Given the description of an element on the screen output the (x, y) to click on. 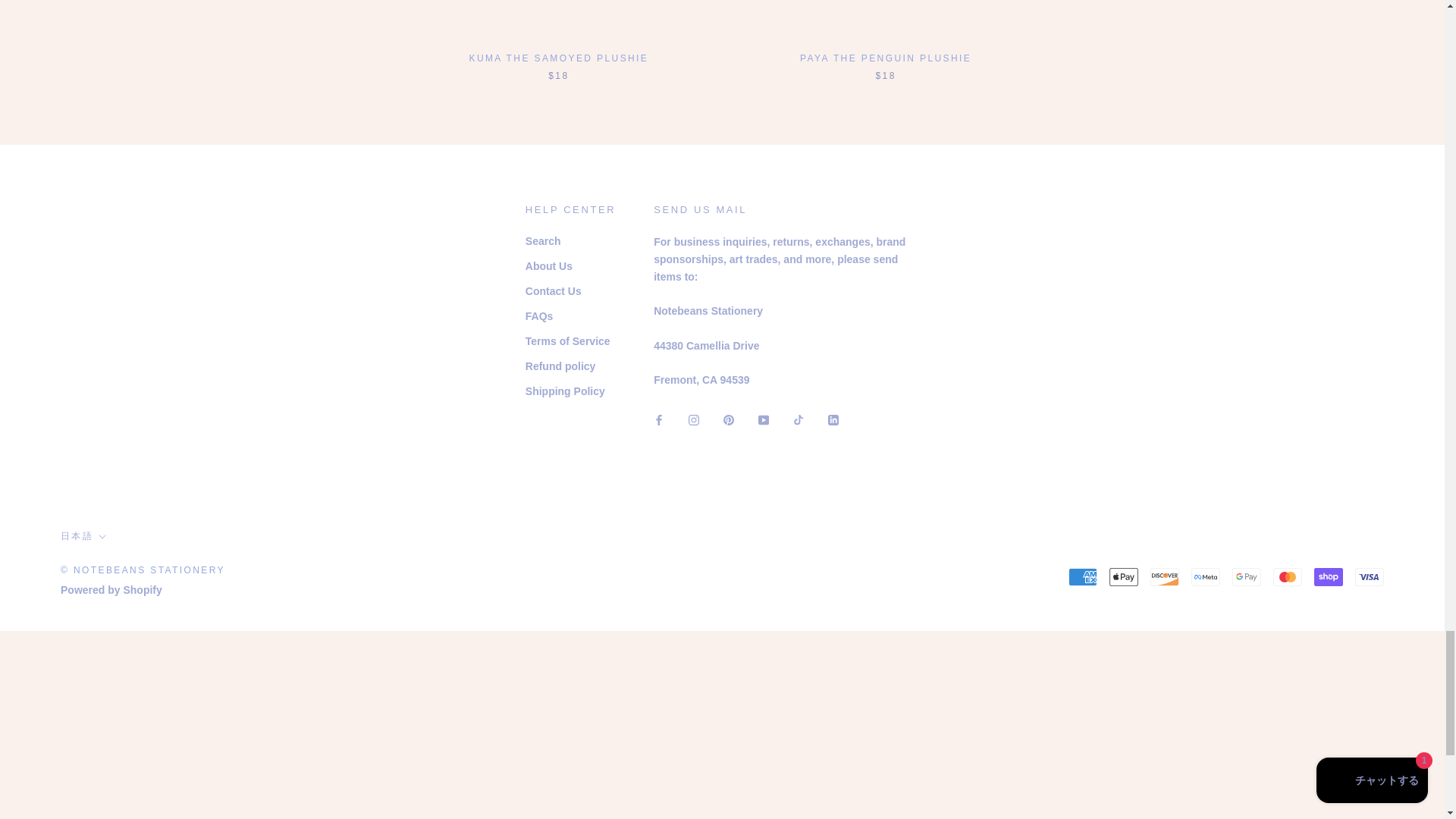
Meta Pay (1205, 577)
Discover (1164, 577)
American Express (1082, 577)
Apple Pay (1123, 577)
Google Pay (1245, 577)
Mastercard (1286, 577)
